Given the description of an element on the screen output the (x, y) to click on. 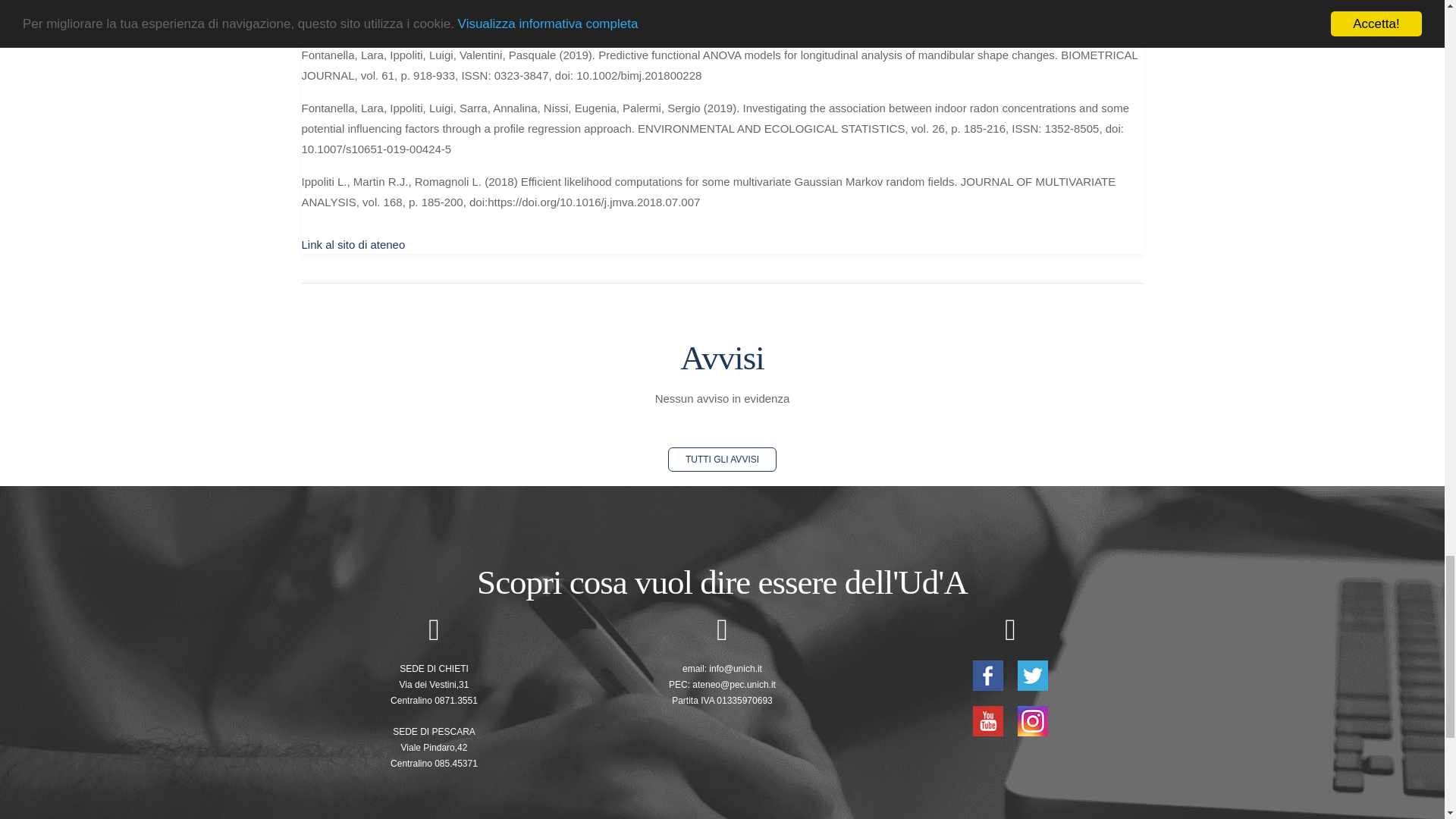
Facebook (989, 674)
Twitter (1032, 674)
Youtube (989, 719)
Instagram (1032, 719)
